Given the description of an element on the screen output the (x, y) to click on. 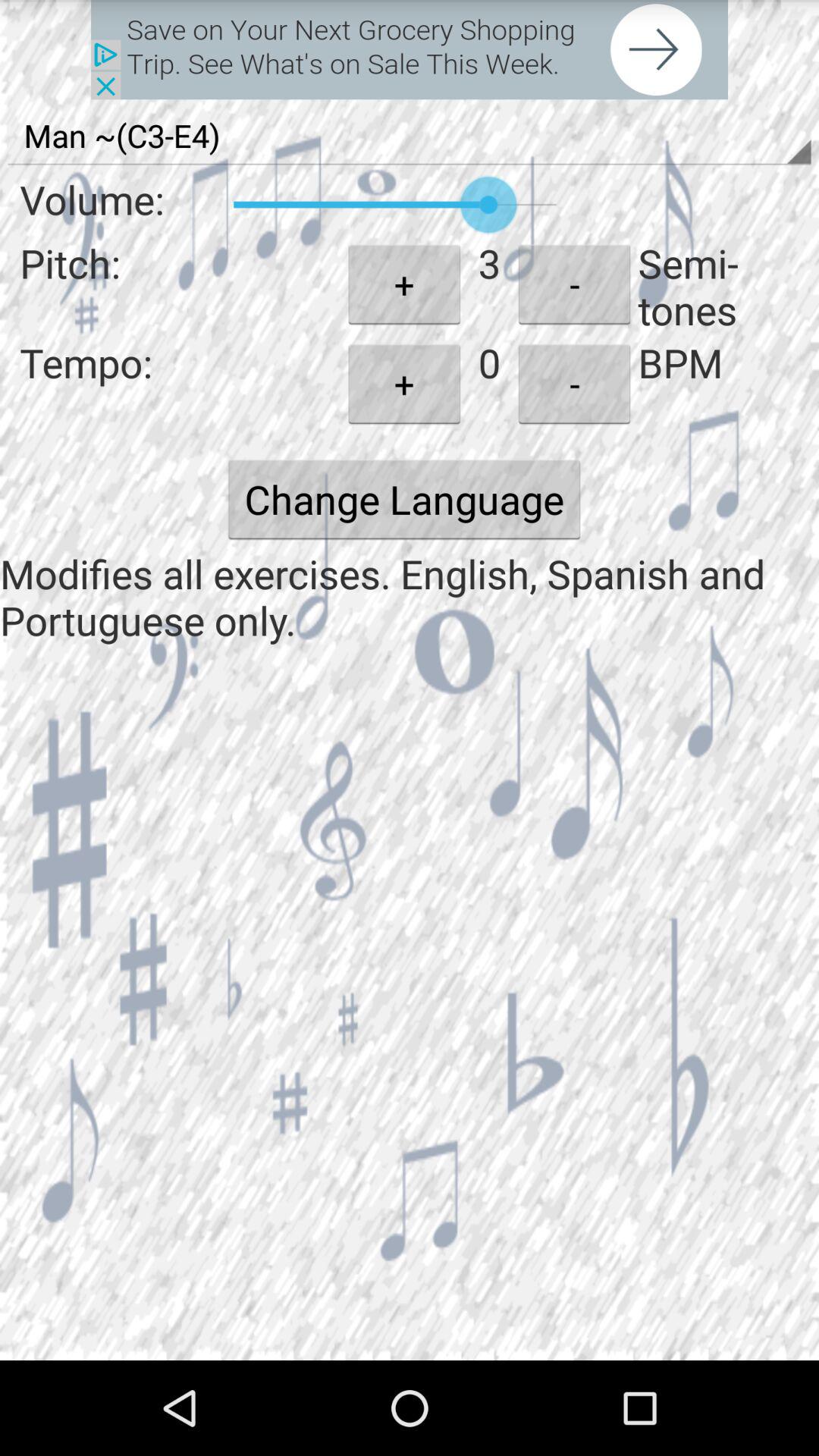
select the 2nd  button (574, 383)
